Given the description of an element on the screen output the (x, y) to click on. 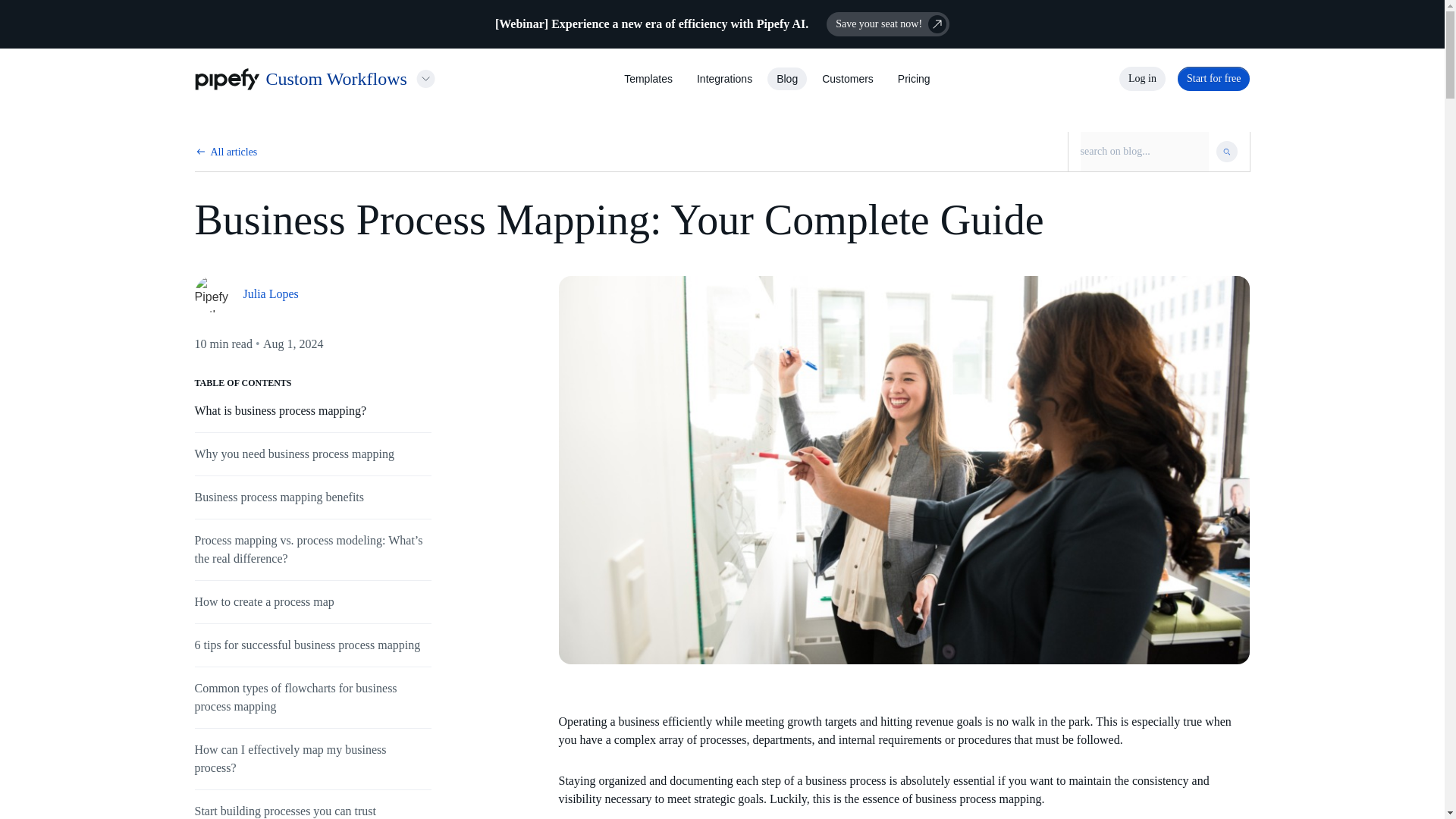
How to create a process map (263, 601)
Start for free (1213, 78)
Common types of flowcharts for business process mapping (294, 696)
Integrations (724, 78)
Save your seat now! (888, 24)
6 tips for successful business process mapping (306, 644)
Log in (1142, 78)
Custom Workflows (335, 78)
Why you need business process mapping (293, 453)
Julia Lopes (311, 294)
